Given the description of an element on the screen output the (x, y) to click on. 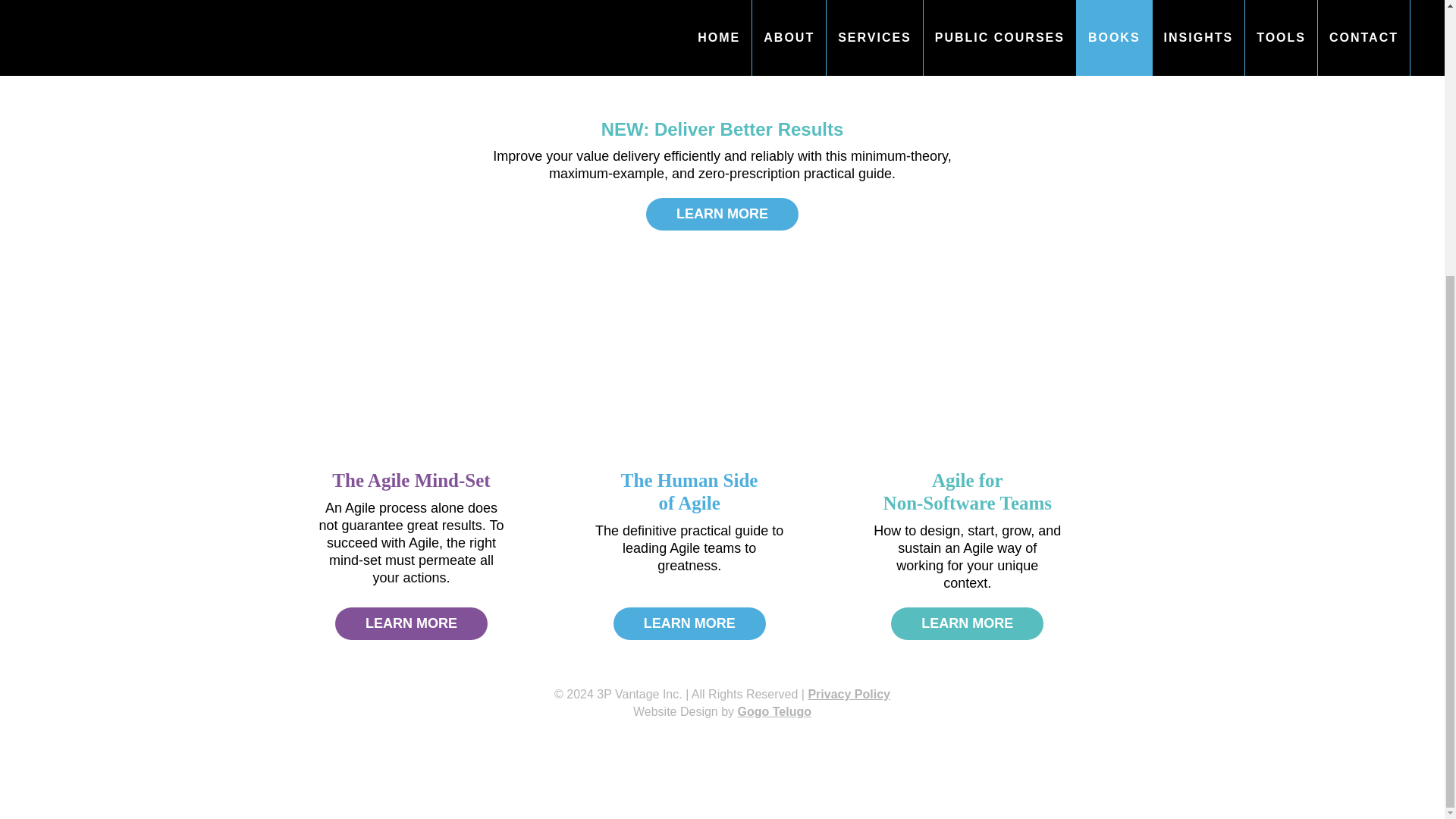
LEARN MORE (688, 623)
Privacy Policy (967, 491)
LEARN MORE (848, 694)
The Agile Mind-Set (967, 623)
Website Design by Gogo Telugo (410, 480)
LEARN MORE (721, 711)
NEW: Deliver Better Results (721, 214)
LEARN MORE (722, 128)
